Given the description of an element on the screen output the (x, y) to click on. 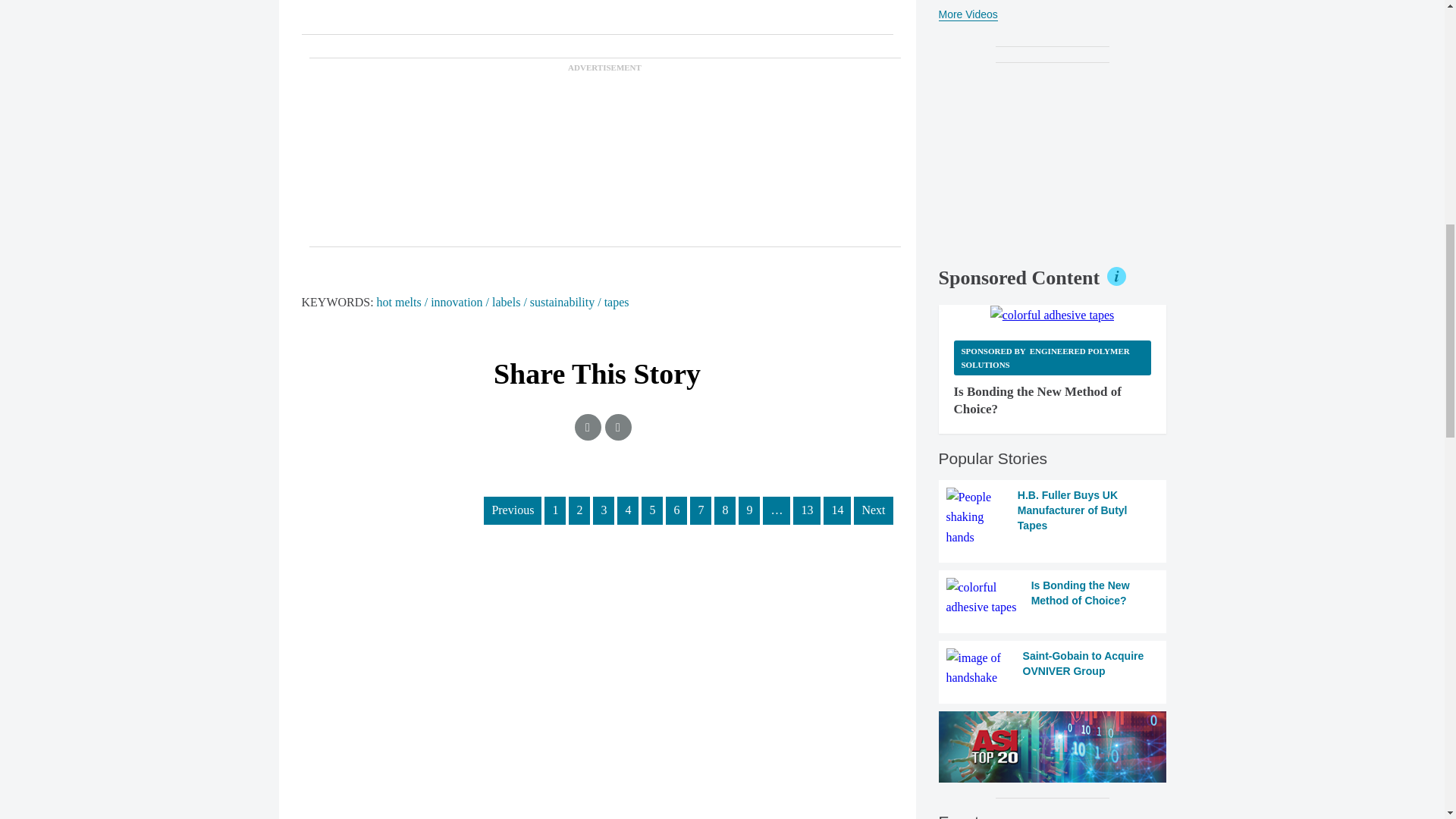
Sponsored by Engineered Polymer Solutions (1052, 357)
Is Bonding the New Method of Choice? (1052, 598)
Saint-Gobain to Acquire OVNIVER Group (1052, 668)
colorful adhesive tapes (1052, 315)
H.B. Fuller Buys UK Manufacturer of Butyl Tapes (1052, 517)
